Given the description of an element on the screen output the (x, y) to click on. 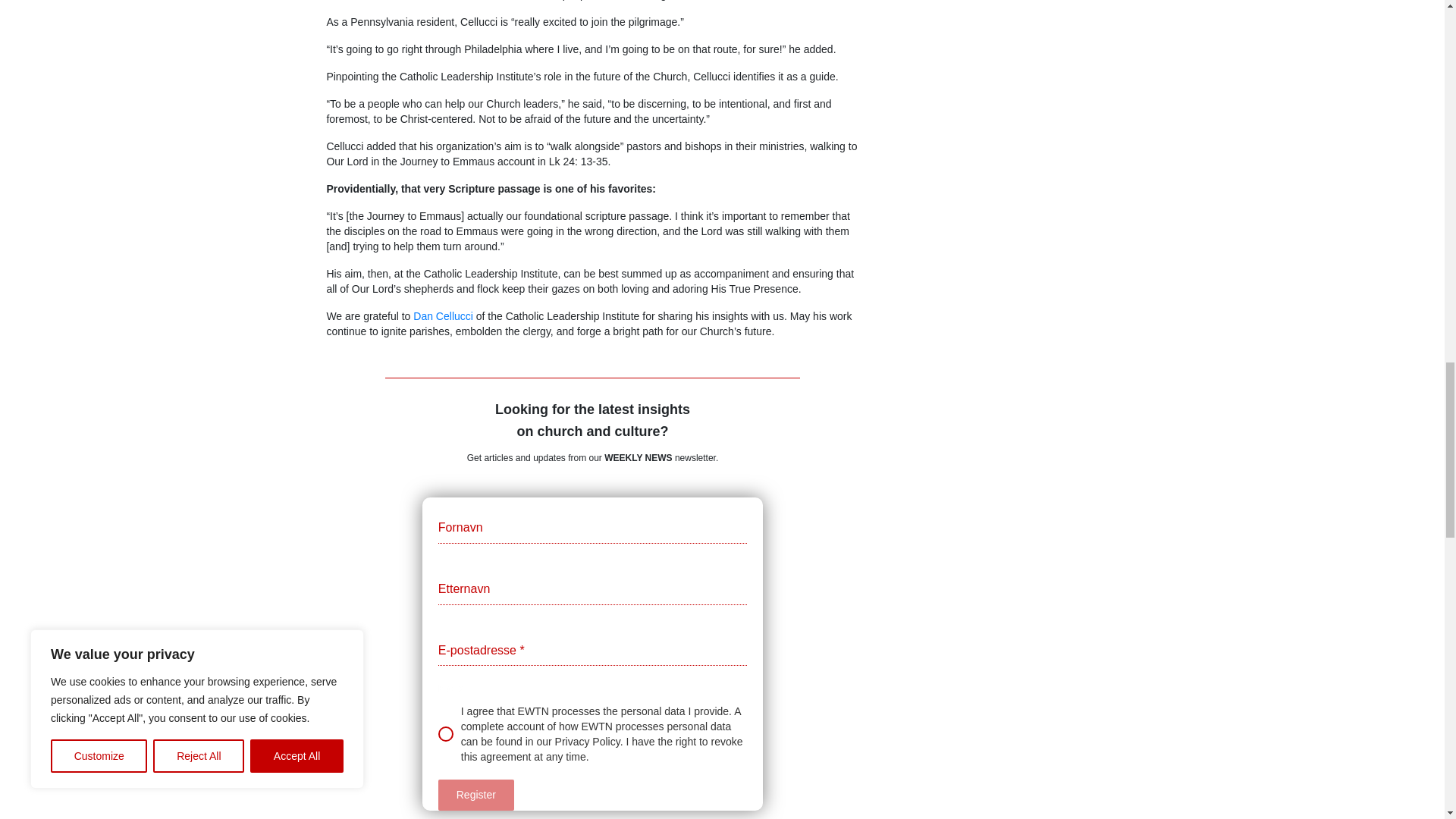
Dan Cellucci (443, 316)
Register (475, 794)
